Given the description of an element on the screen output the (x, y) to click on. 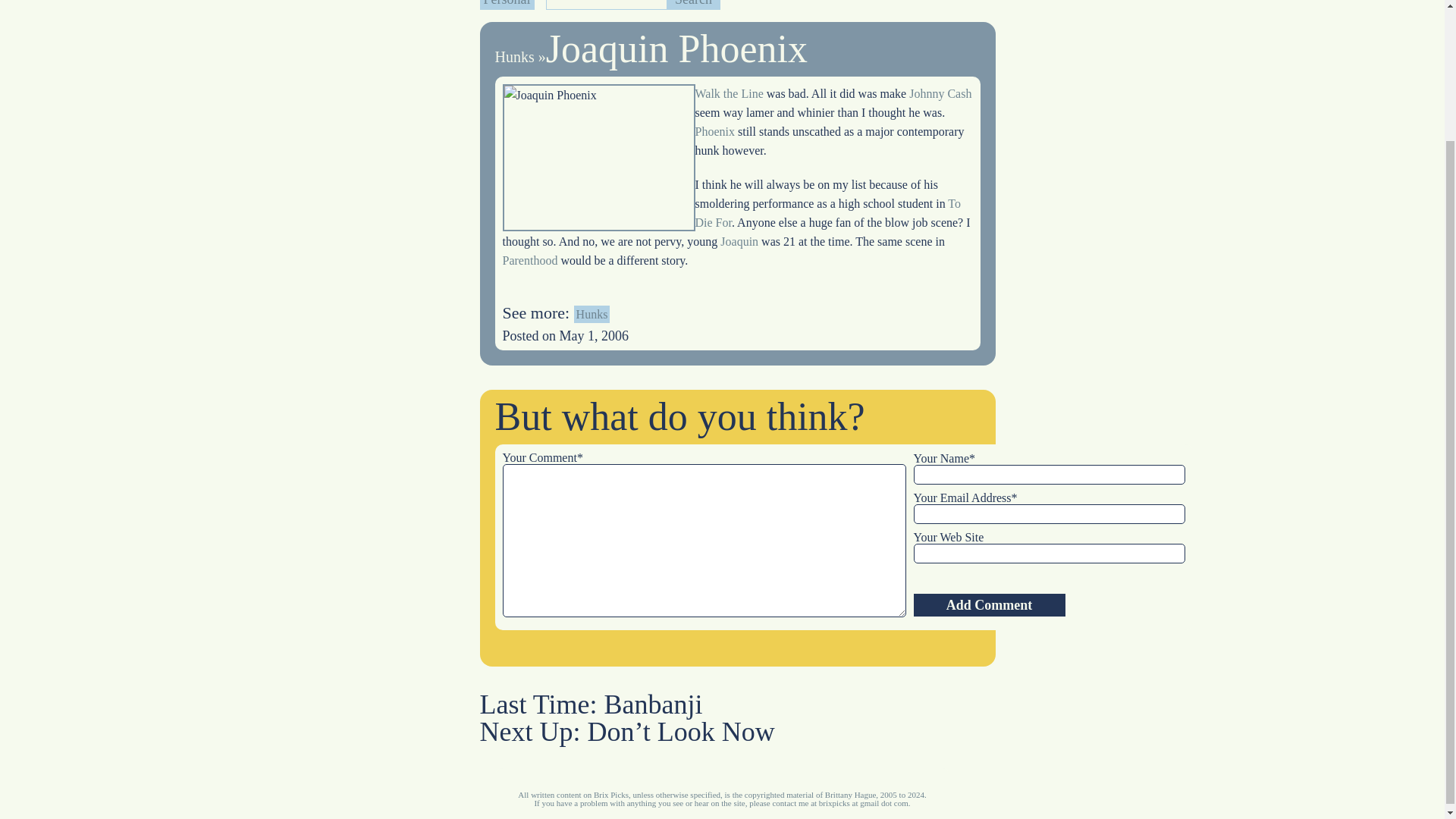
Hunks (514, 56)
Johnny Cash (939, 92)
Hunks (591, 313)
Joaquin Phoenix (677, 48)
Banbanji (653, 704)
To Die For (827, 213)
Phoenix (713, 131)
Walk the Line (728, 92)
Search (693, 4)
Search (693, 4)
Parenthood (529, 259)
Joaquin (739, 241)
Add Comment (988, 604)
Add Comment (988, 604)
Joaquin Phoenix (598, 157)
